Given the description of an element on the screen output the (x, y) to click on. 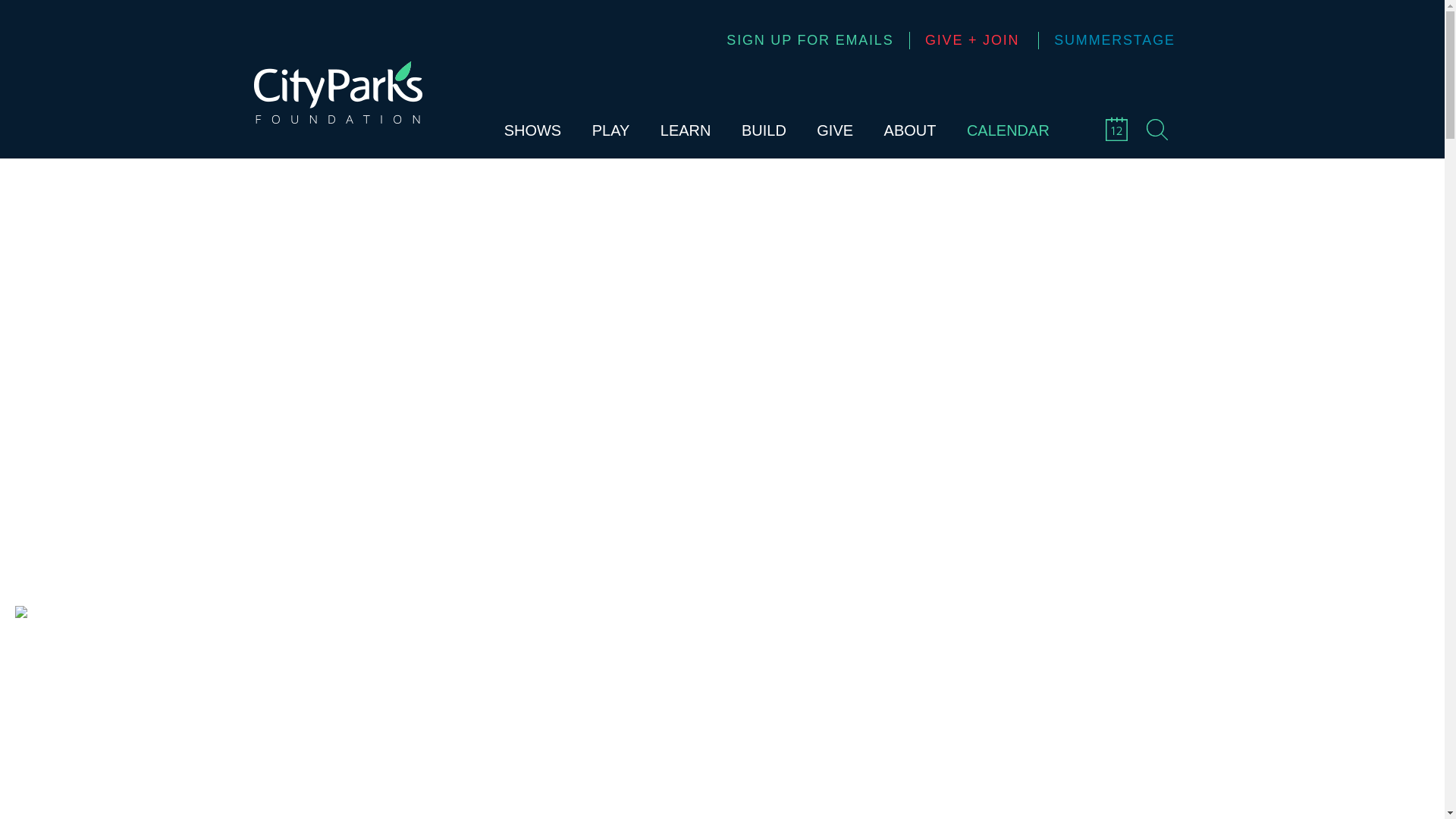
LEARN (686, 129)
SHOWS (532, 129)
PLAY (611, 129)
GIVE (834, 129)
BUILD (763, 129)
SIGN UP FOR EMAILS (809, 40)
SUMMERSTAGE (1106, 40)
